Given the description of an element on the screen output the (x, y) to click on. 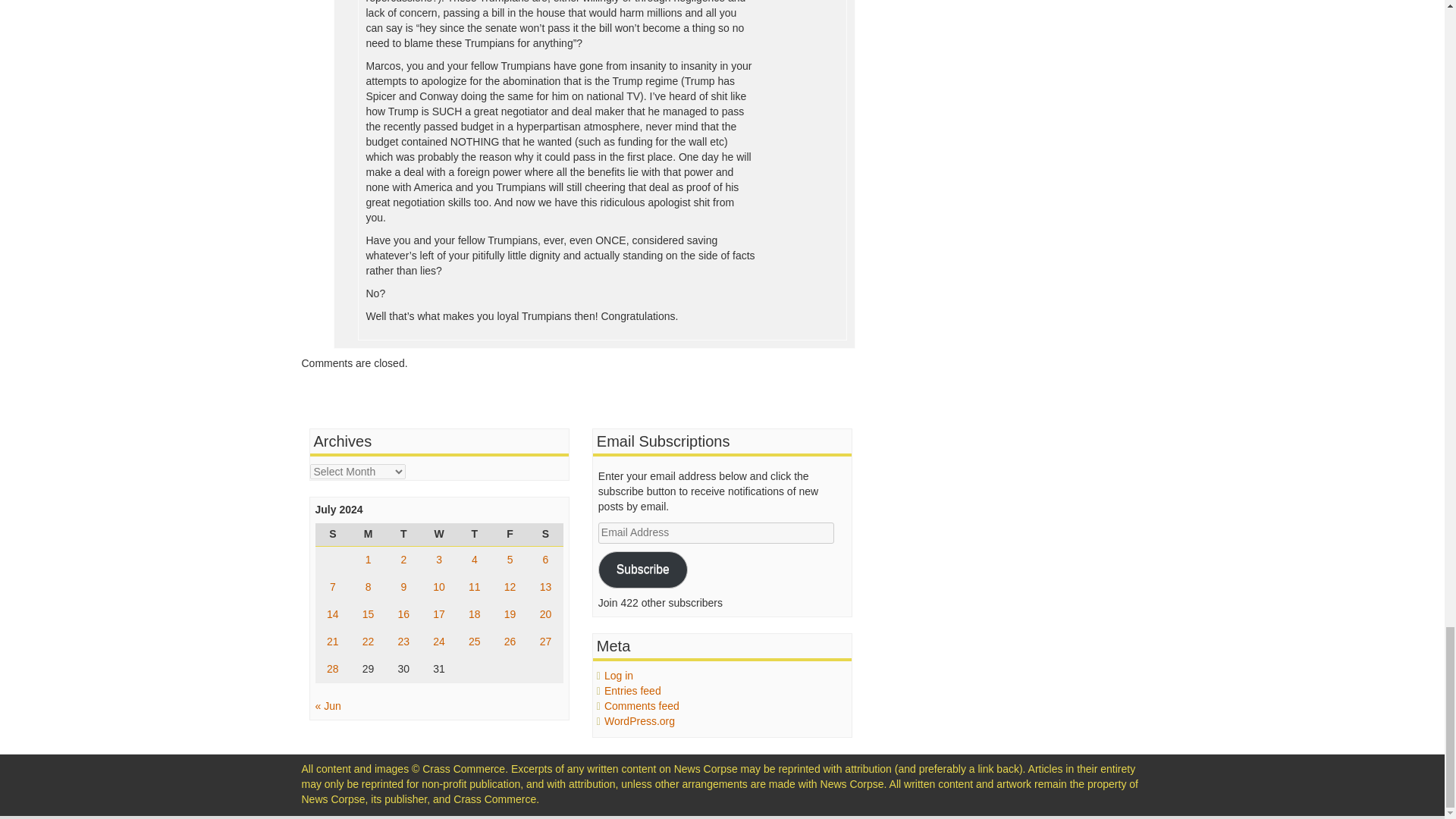
Tuesday (403, 534)
Wednesday (439, 534)
Sunday (332, 534)
Monday (367, 534)
